Given the description of an element on the screen output the (x, y) to click on. 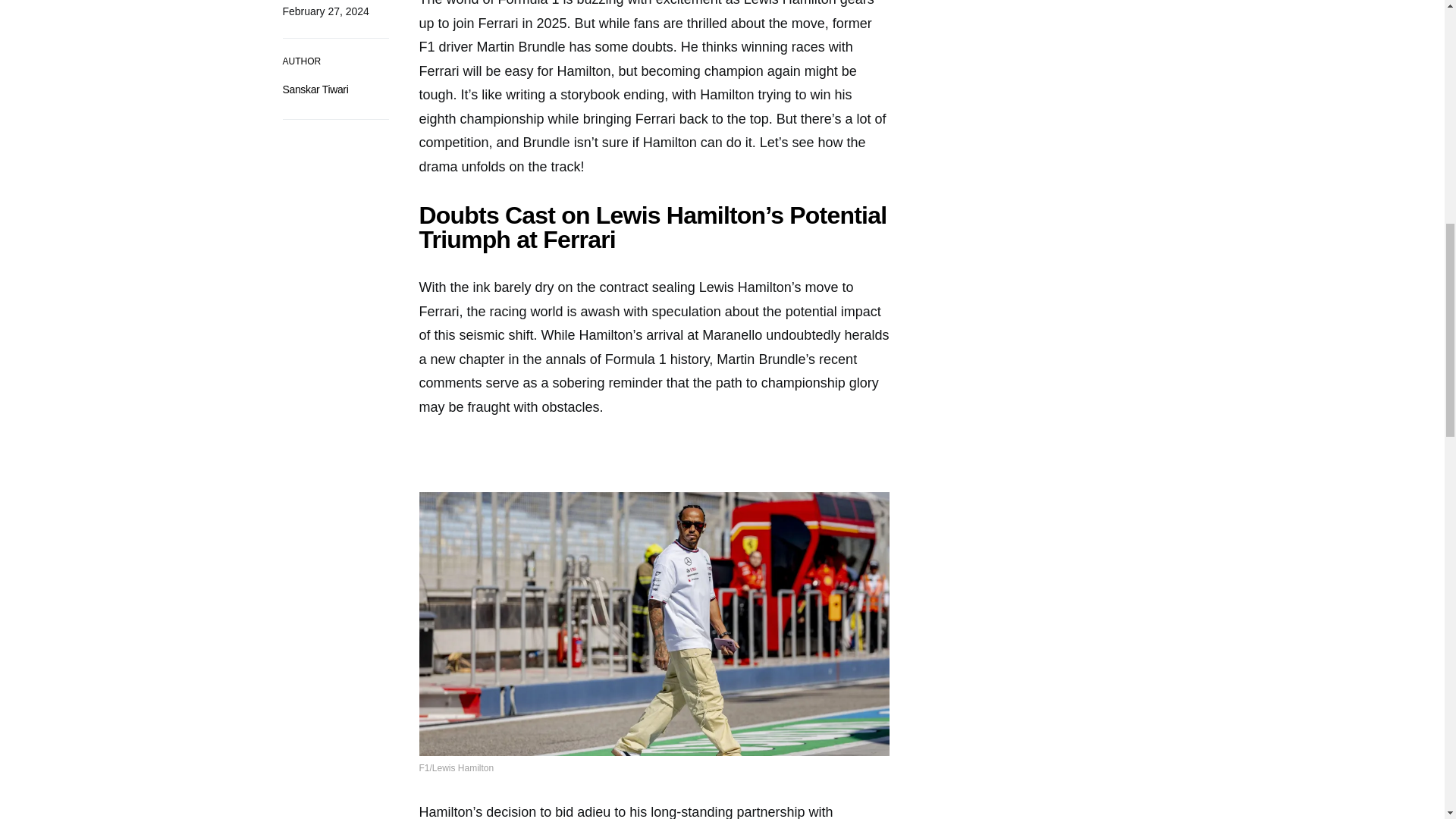
Sanskar Tiwari (314, 89)
